Given the description of an element on the screen output the (x, y) to click on. 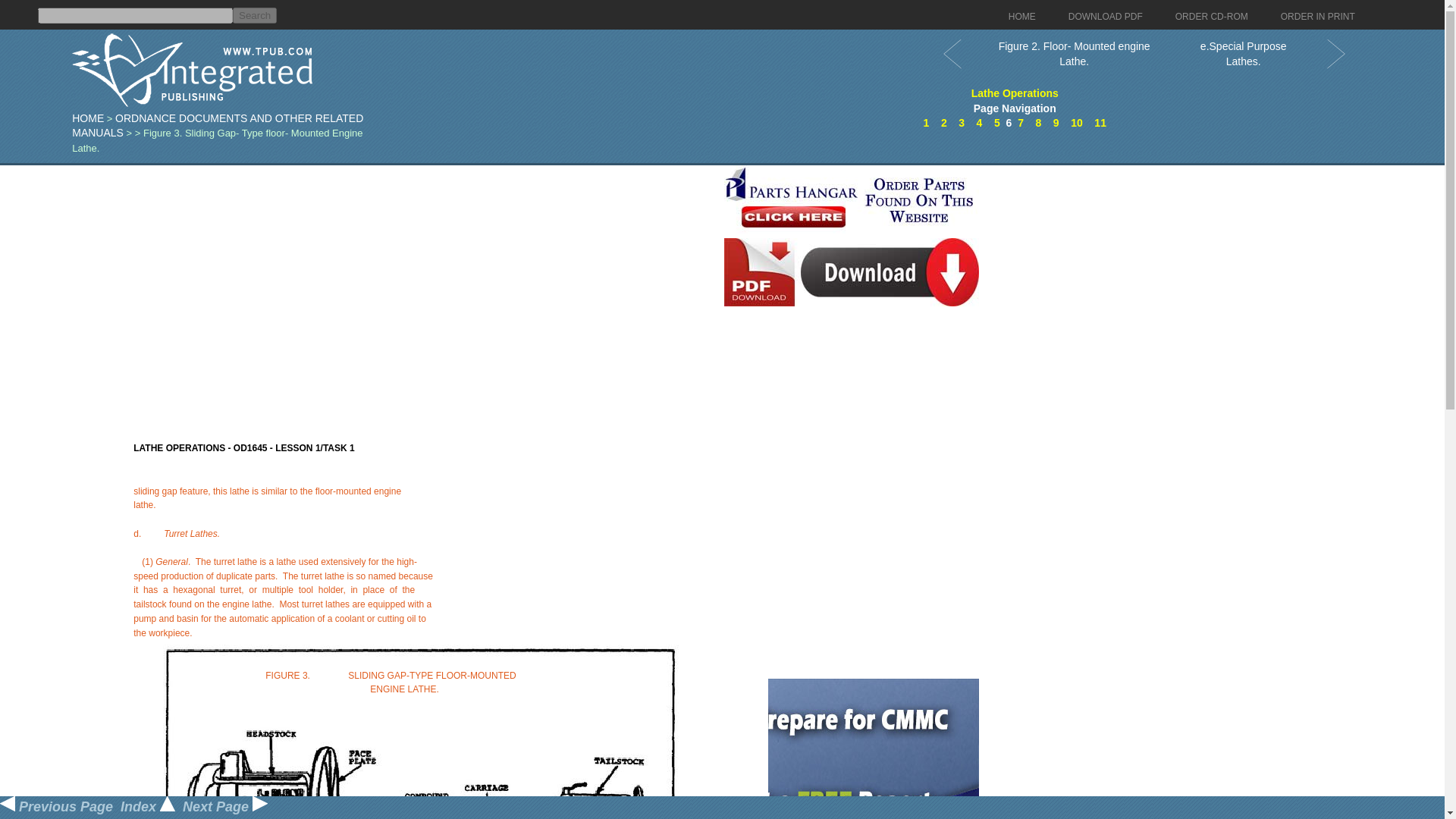
Lathe Operations (1014, 92)
Search (254, 15)
Advertisement (850, 483)
Figure 5. Sliding Gear type Headstock. (1076, 122)
Search (254, 15)
HOME (1022, 16)
Figure 2. Floor- Mounted engine Lathe. (1074, 53)
DOWNLOAD PDF (1105, 16)
ORDER IN PRINT (1317, 16)
ORDNANCE DOCUMENTS AND OTHER RELATED MANUALS (216, 125)
